Given the description of an element on the screen output the (x, y) to click on. 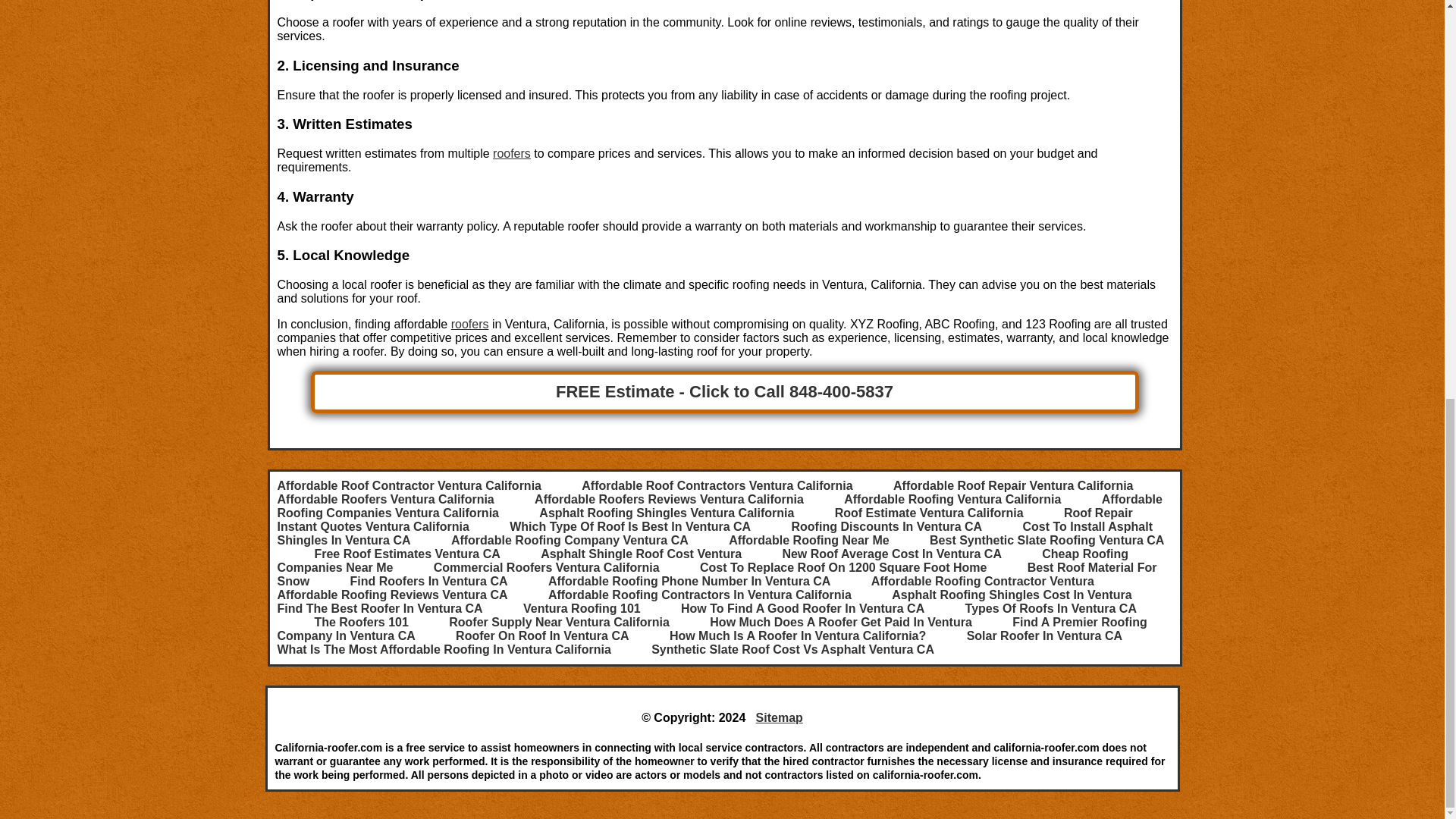
Affordable Roofing Reviews Ventura CA (393, 594)
Ventura Roofing 101 (581, 608)
Asphalt Roofing Shingles Ventura California (665, 512)
Affordable Roofing Companies Ventura California (719, 506)
How To Find A Good Roofer In Ventura CA (802, 608)
Find Roofers In Ventura CA (429, 581)
Affordable Roofing Ventura California (952, 499)
Types Of Roofs In Ventura CA (1051, 608)
Roof Estimate Ventura California (928, 512)
Affordable Roofing Contractors In Ventura California (699, 594)
